Given the description of an element on the screen output the (x, y) to click on. 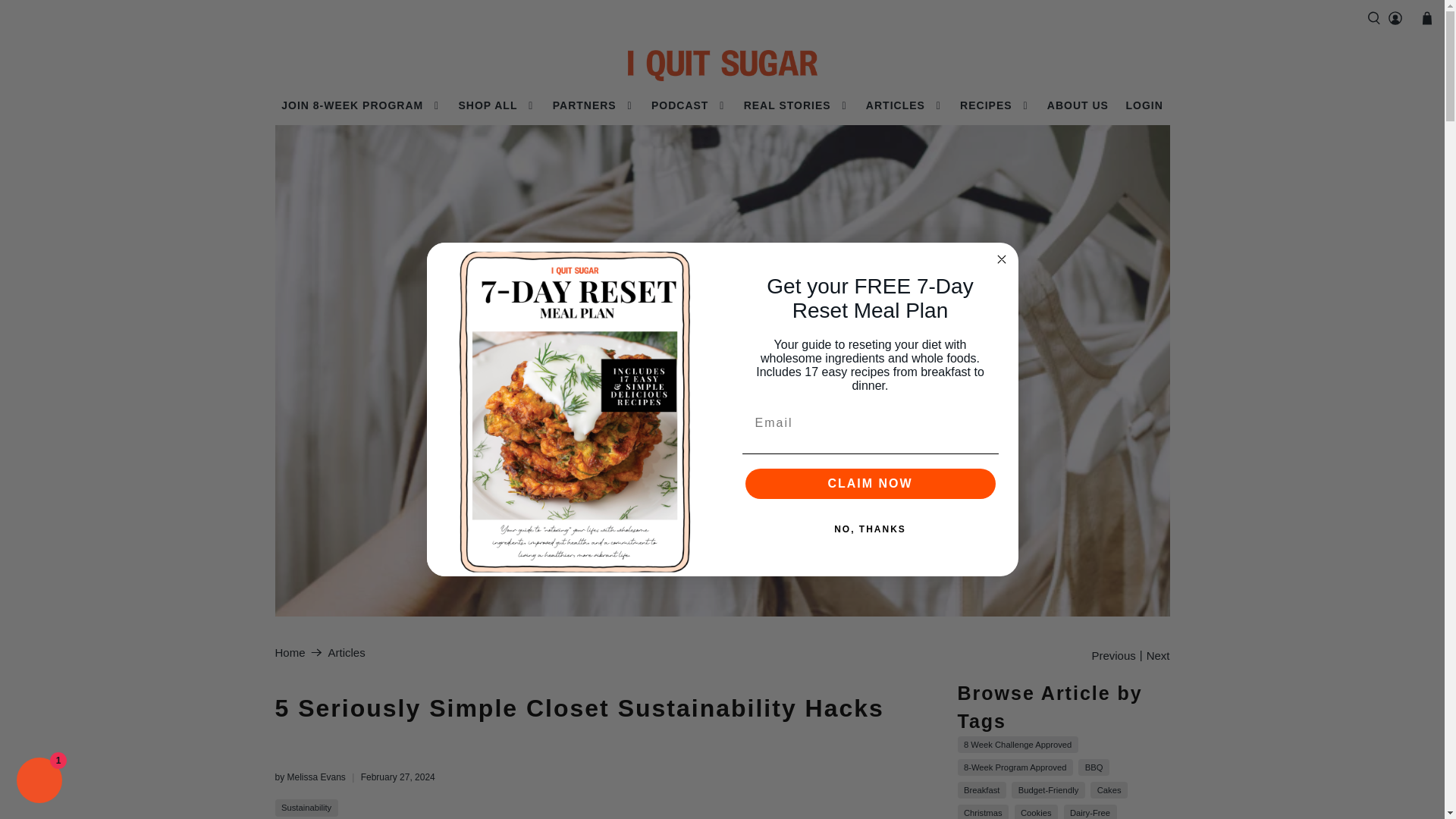
SHOP ALL (496, 105)
JOIN 8-WEEK PROGRAM (361, 105)
Articles tagged Christmas (983, 812)
ARTICLES (904, 105)
LOGIN (1144, 105)
Articles tagged 8 Week Challenge Approved (1017, 744)
Articles tagged Cookies (1035, 812)
Articles tagged Breakfast (981, 789)
Articles tagged Cakes (1109, 789)
Articles tagged Dairy-Free (1089, 812)
Close dialog 2 (1000, 259)
Articles (347, 652)
I Quit Sugar (721, 65)
Previous (1112, 655)
PARTNERS (592, 105)
